Given the description of an element on the screen output the (x, y) to click on. 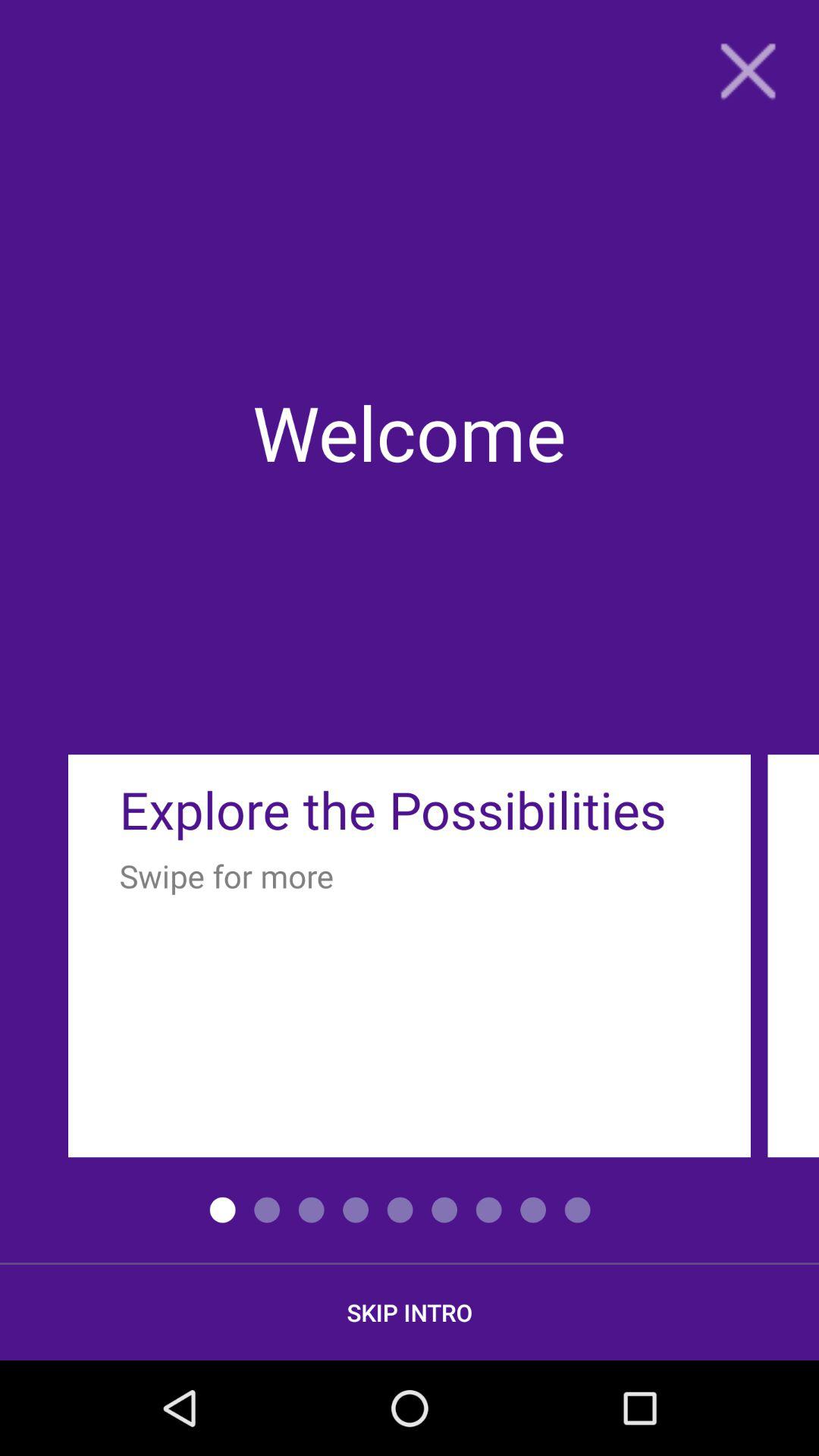
press the skip intro icon (409, 1312)
